Given the description of an element on the screen output the (x, y) to click on. 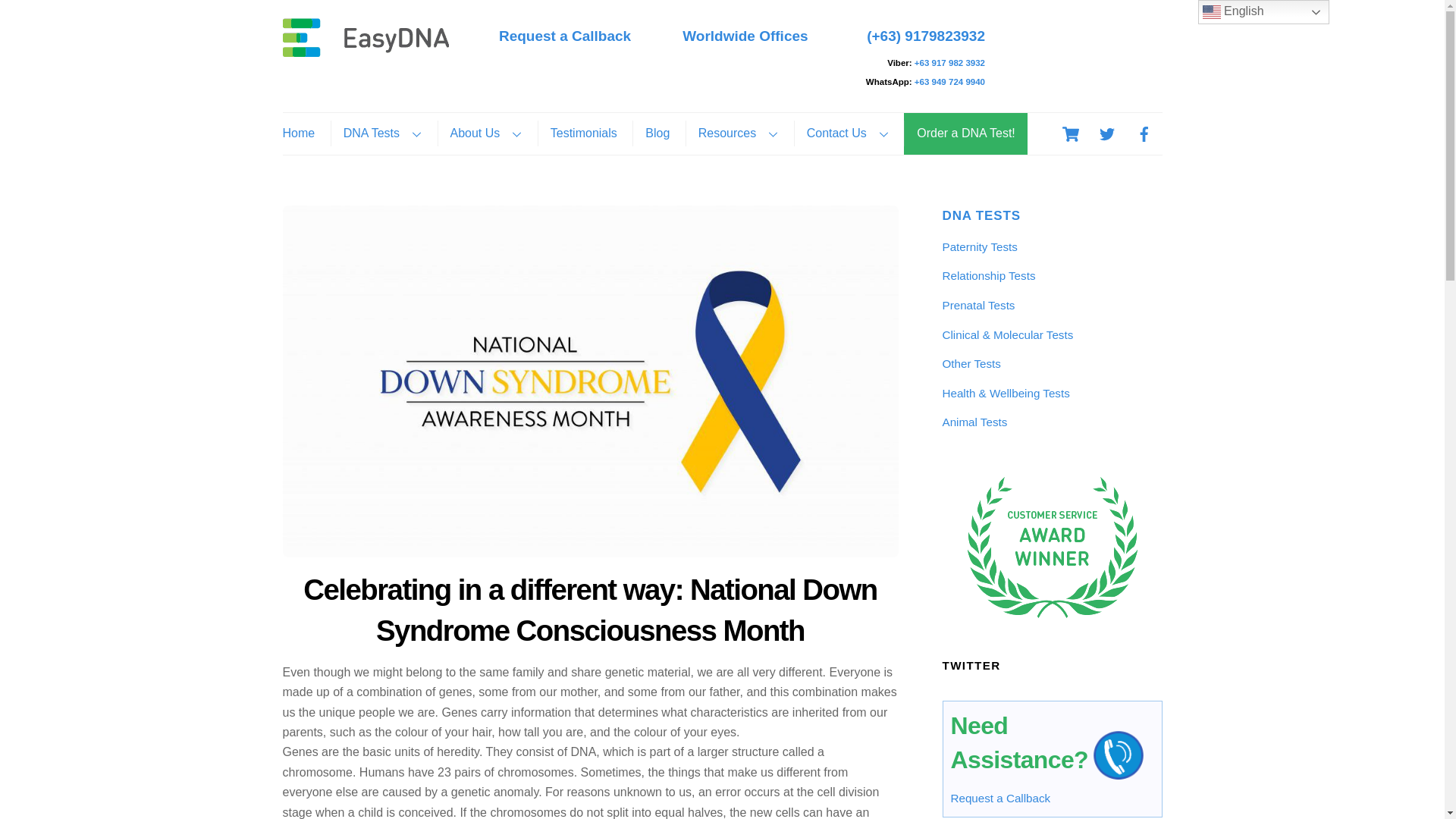
DNA Tests (381, 133)
logo (365, 37)
Cart (1070, 133)
Home (304, 133)
EasyDNA PH (365, 49)
